Given the description of an element on the screen output the (x, y) to click on. 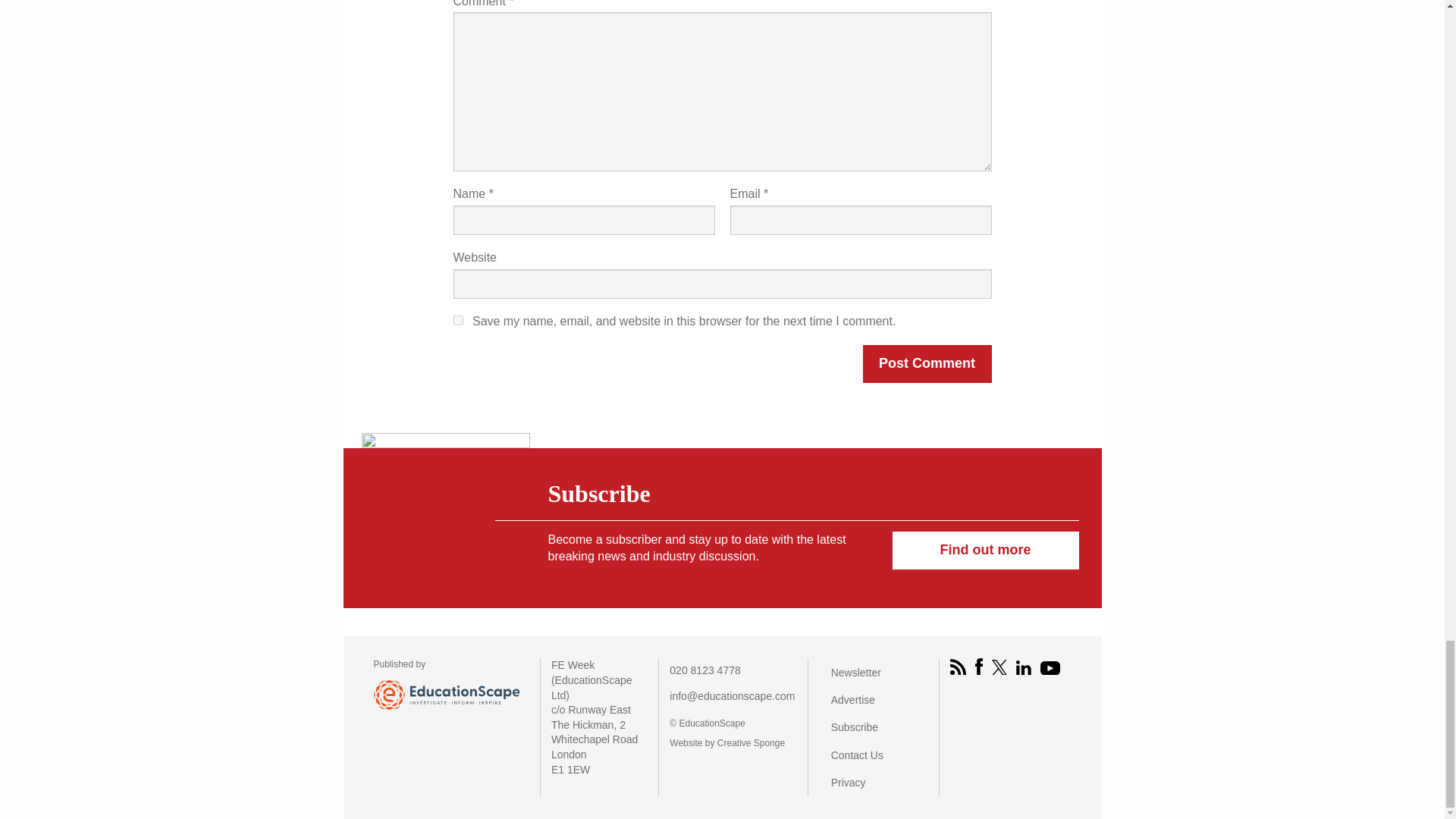
Post Comment (927, 364)
yes (457, 320)
